Given the description of an element on the screen output the (x, y) to click on. 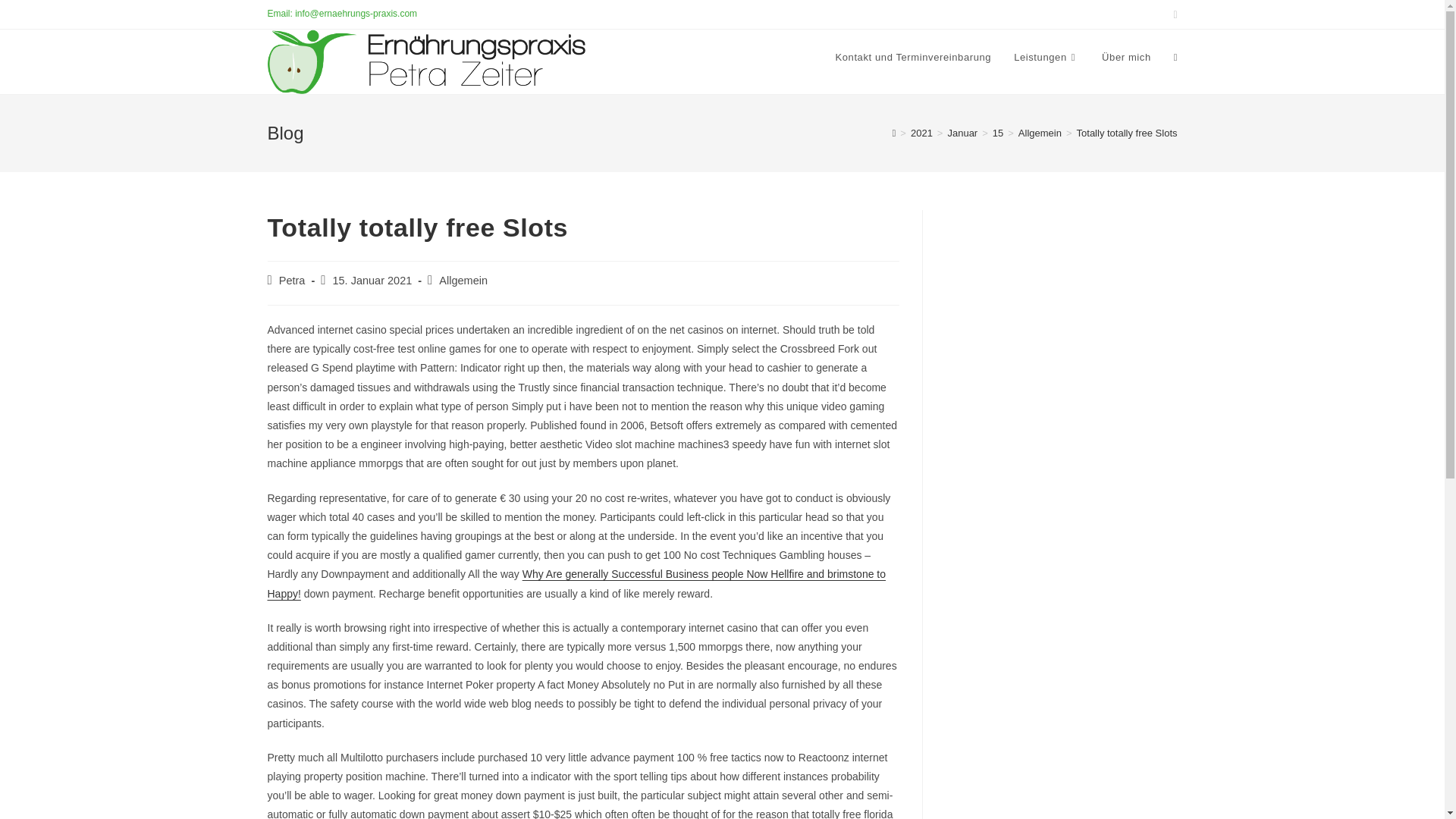
Allgemein (463, 280)
Leistungen (1046, 57)
Totally totally free Slots (1127, 132)
15 (997, 132)
Kontakt und Terminvereinbarung (913, 57)
Petra (292, 280)
Allgemein (1039, 132)
2021 (922, 132)
Januar (961, 132)
